Given the description of an element on the screen output the (x, y) to click on. 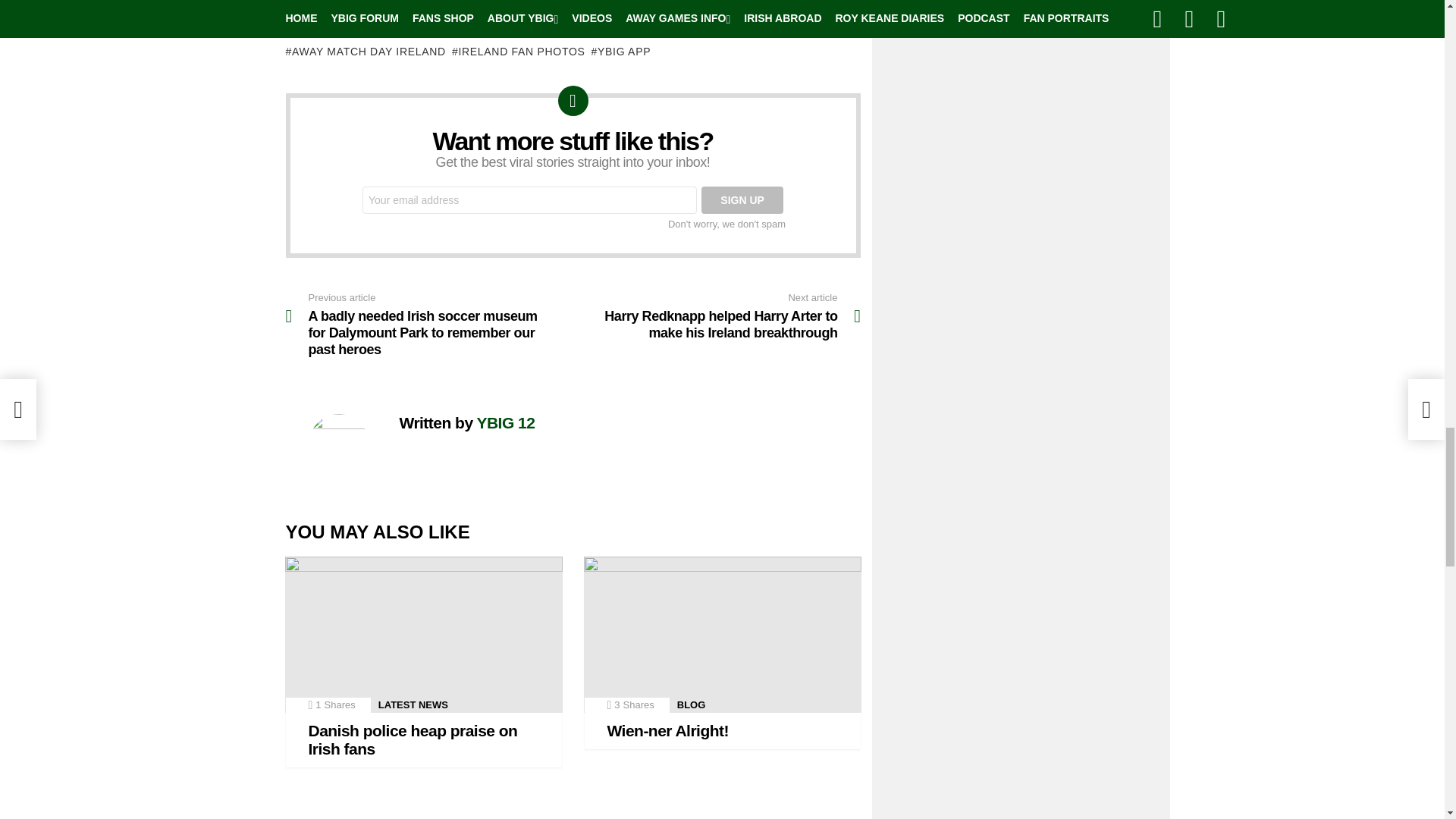
Danish police heap praise on Irish fans (423, 634)
Wien-ner Alright! (722, 634)
Sign up (742, 199)
